Given the description of an element on the screen output the (x, y) to click on. 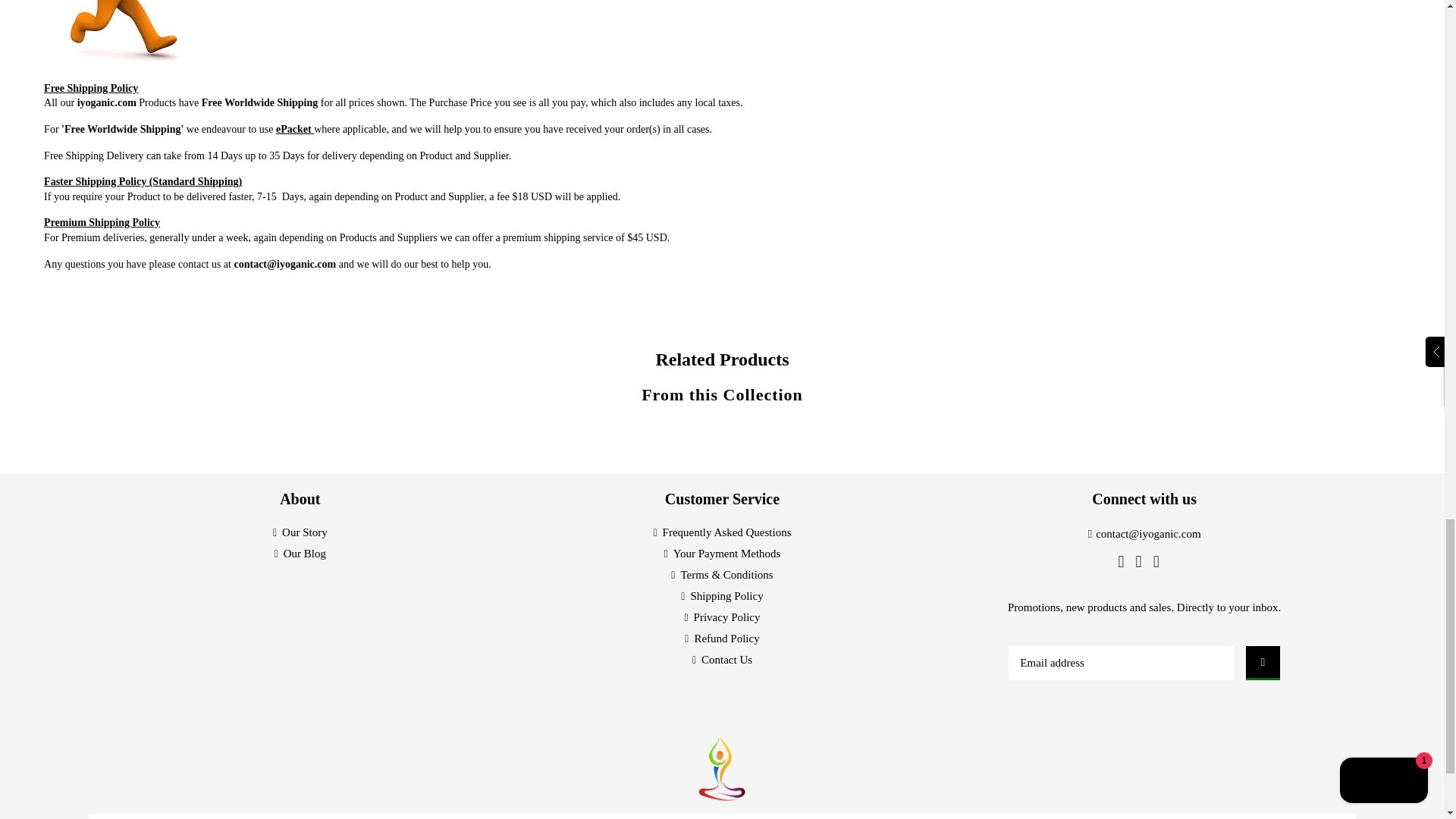
iyoganic.com (106, 102)
ePacket Tracking and other Information (295, 129)
